Given the description of an element on the screen output the (x, y) to click on. 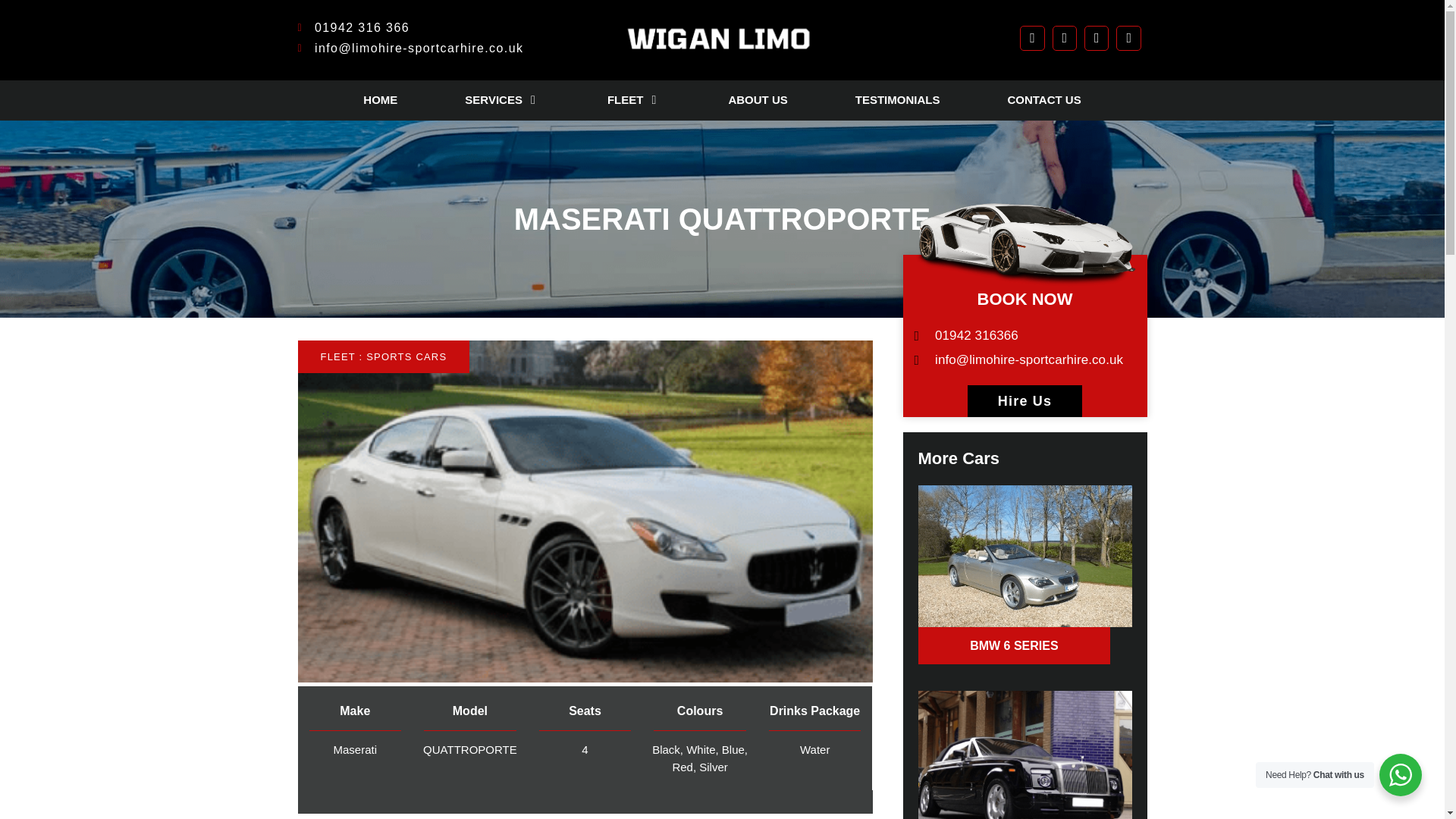
01942 316 366 (449, 27)
SERVICES (493, 99)
HOME (379, 99)
